Given the description of an element on the screen output the (x, y) to click on. 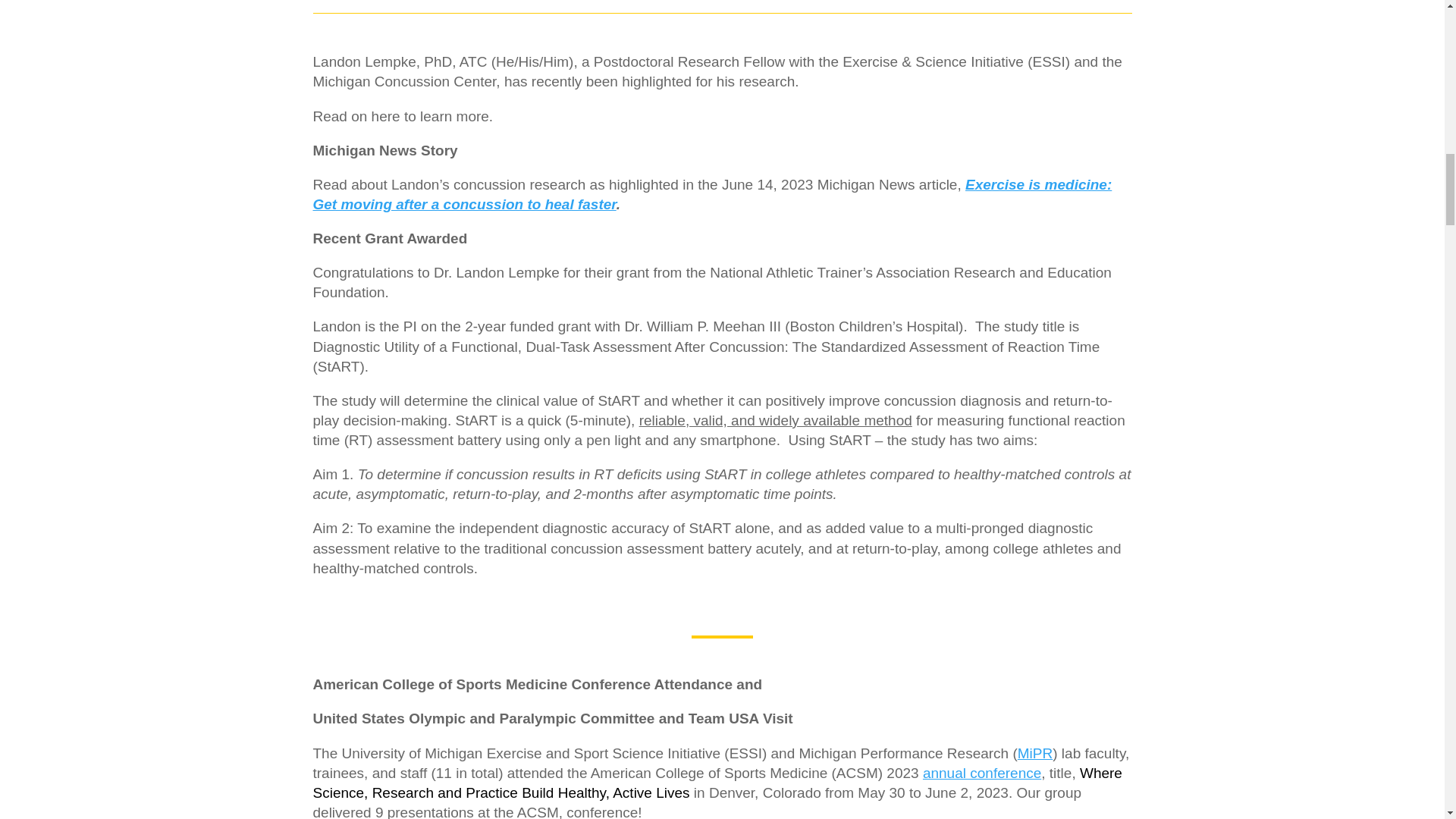
MiPR (1034, 752)
annual conference (982, 772)
